Given the description of an element on the screen output the (x, y) to click on. 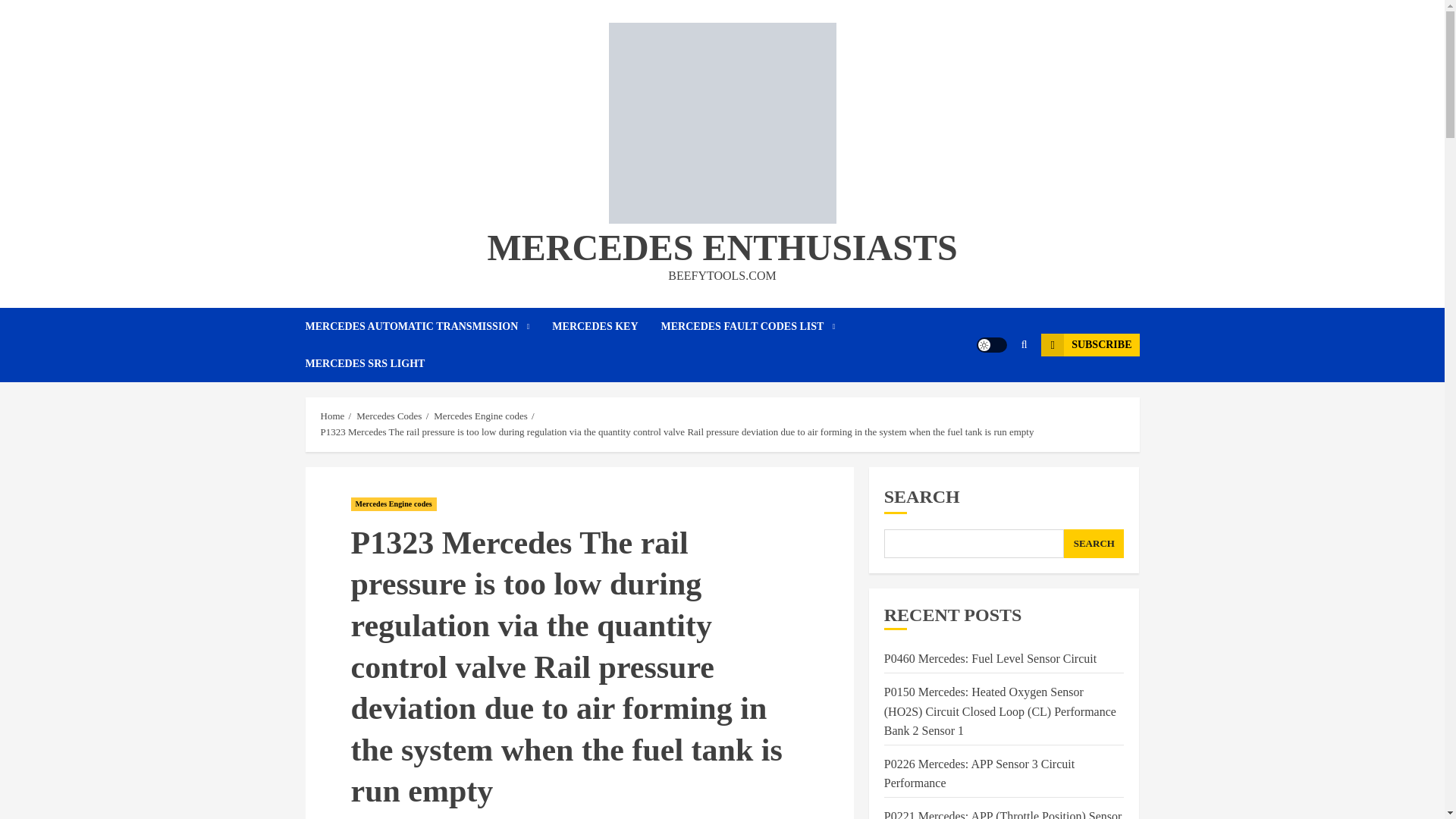
MERCEDES KEY (606, 325)
P0460 Mercedes: Fuel Level Sensor Circuit (989, 658)
Mercedes Codes (389, 416)
SUBSCRIBE (1089, 344)
MERCEDES FAULT CODES LIST (760, 325)
Mercedes Engine codes (392, 504)
MERCEDES SRS LIGHT (364, 363)
Home (331, 416)
P0226 Mercedes: APP Sensor 3 Circuit Performance (978, 774)
MERCEDES ENTHUSIASTS (721, 247)
